Given the description of an element on the screen output the (x, y) to click on. 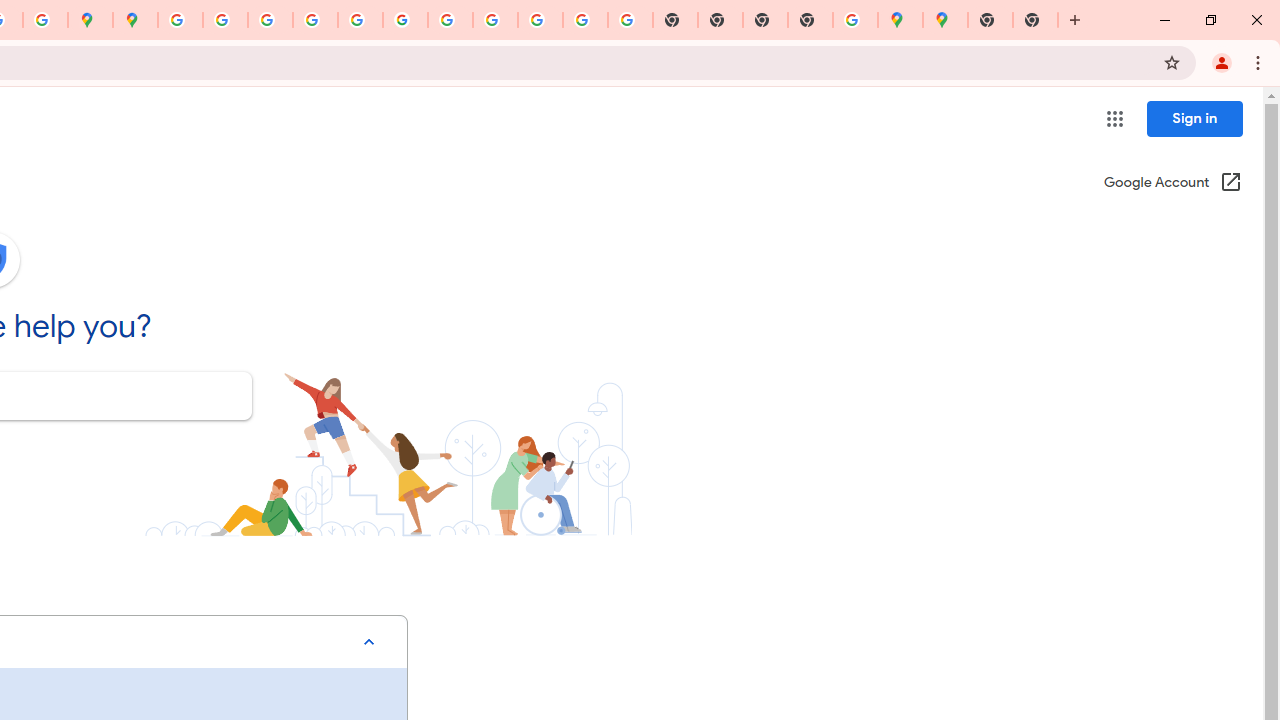
YouTube (450, 20)
